Given the description of an element on the screen output the (x, y) to click on. 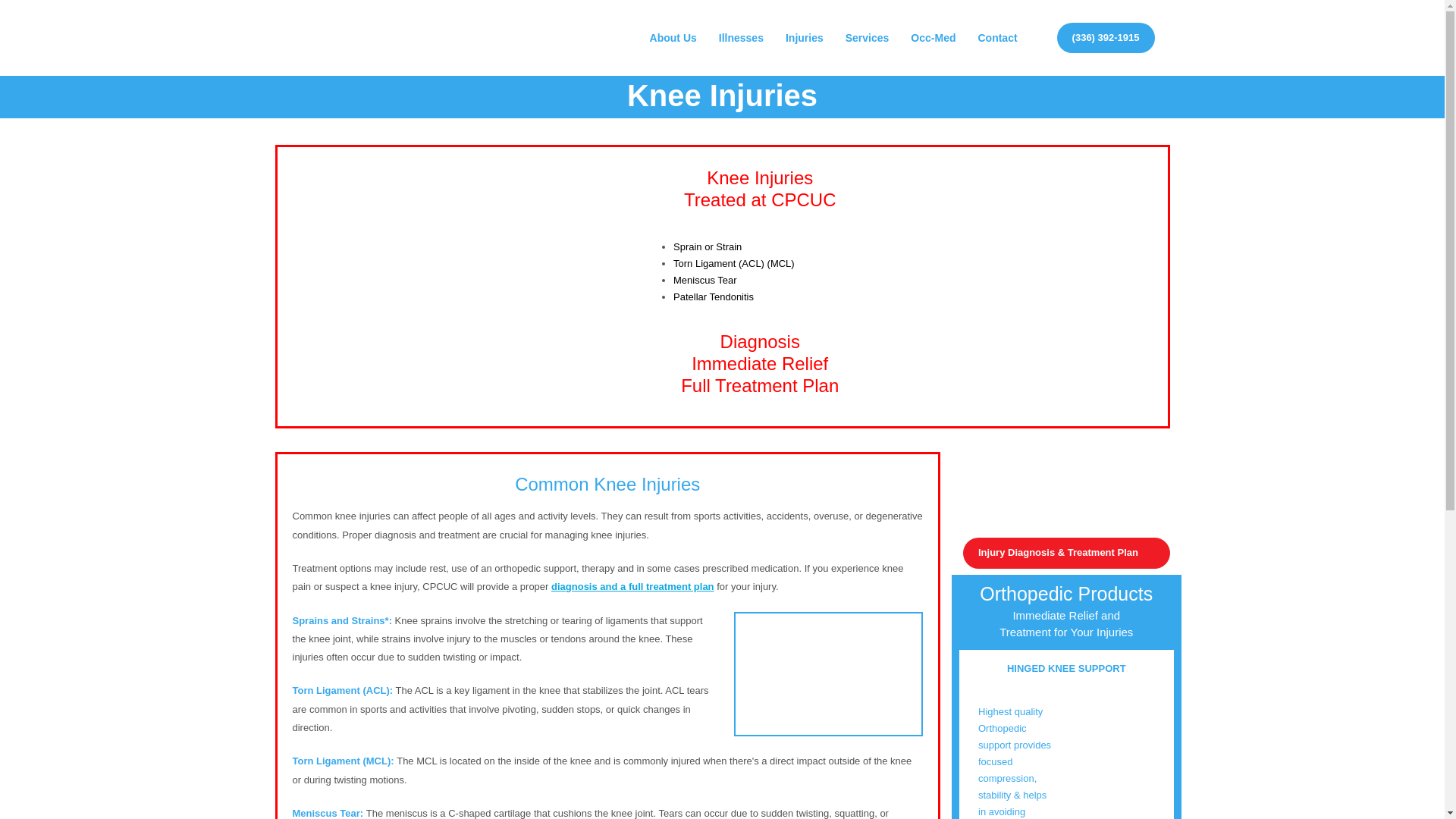
medical-logo-mobile-resize (1066, 494)
Injuries (804, 37)
Knee Image2 (1023, 282)
Click me (1066, 552)
Illnesses (741, 37)
Services (866, 37)
Knee Image1 (457, 286)
Image (828, 673)
About Us (673, 37)
